Given the description of an element on the screen output the (x, y) to click on. 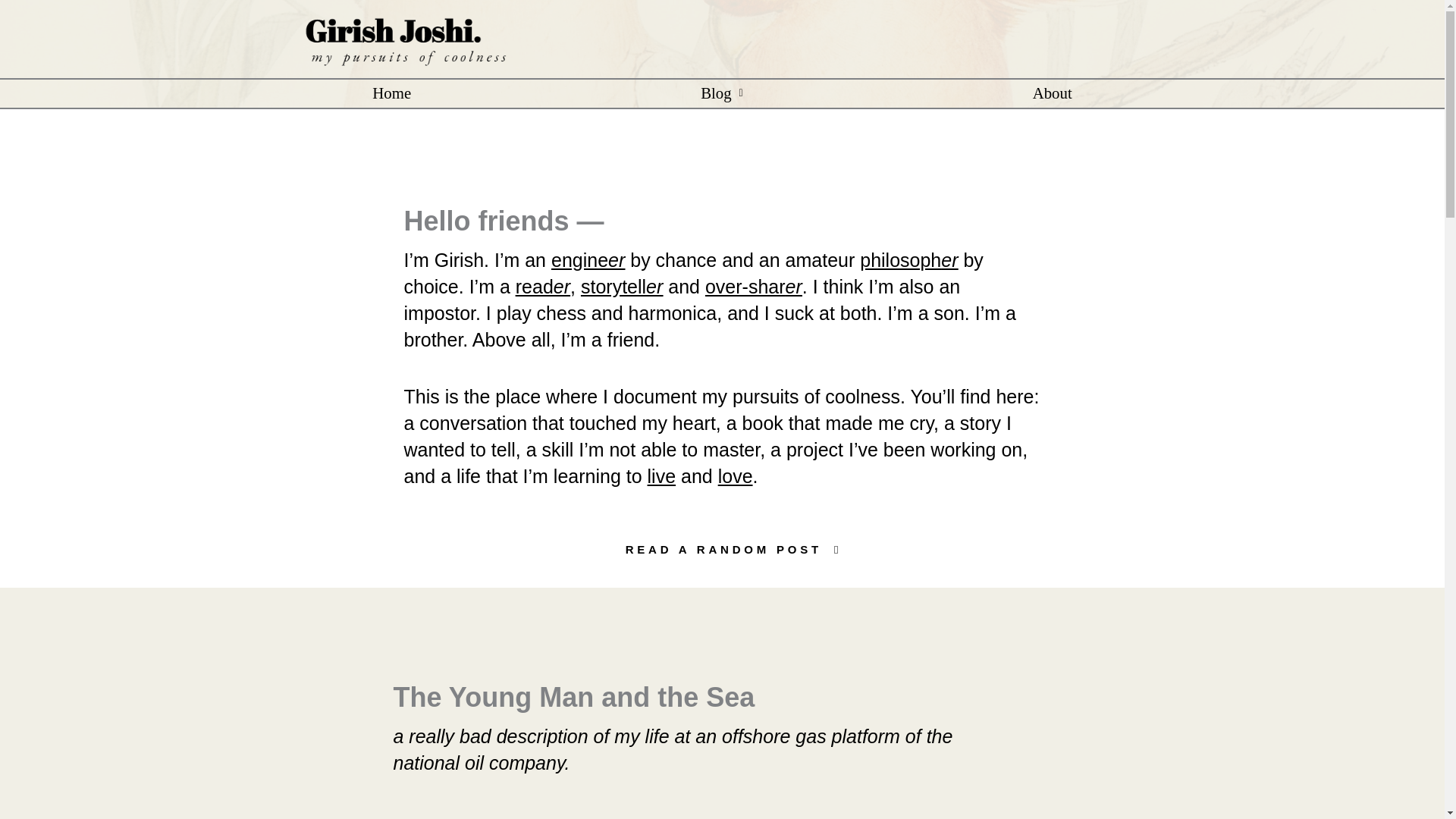
storyteller (621, 286)
Home (391, 93)
Blog (721, 93)
READ A RANDOM POST (722, 550)
About (1052, 93)
philosopher (909, 260)
engineer (587, 260)
over-sharer (753, 286)
reader (542, 286)
